Given the description of an element on the screen output the (x, y) to click on. 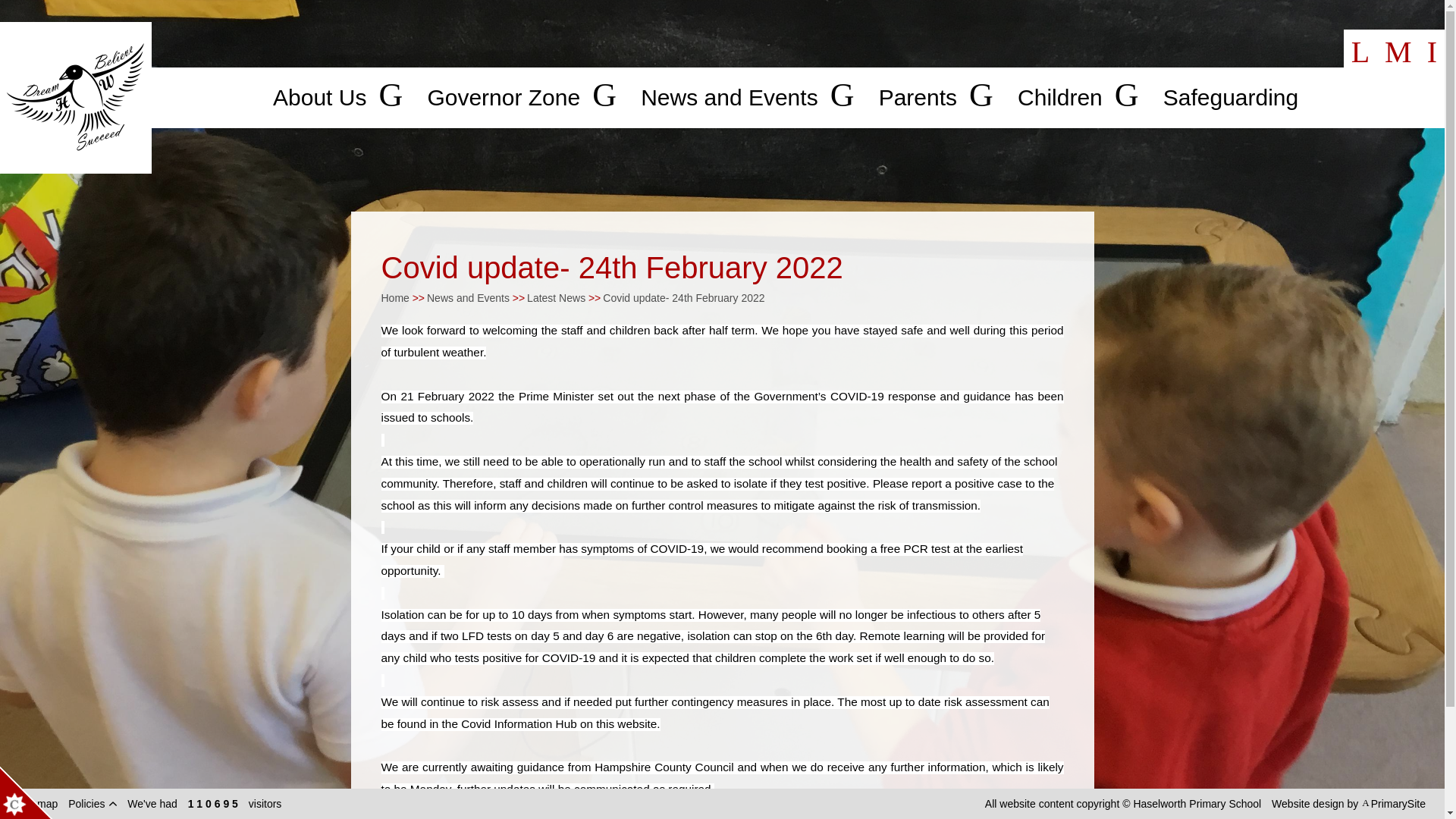
About Us (319, 97)
Home Page (75, 97)
